Given the description of an element on the screen output the (x, y) to click on. 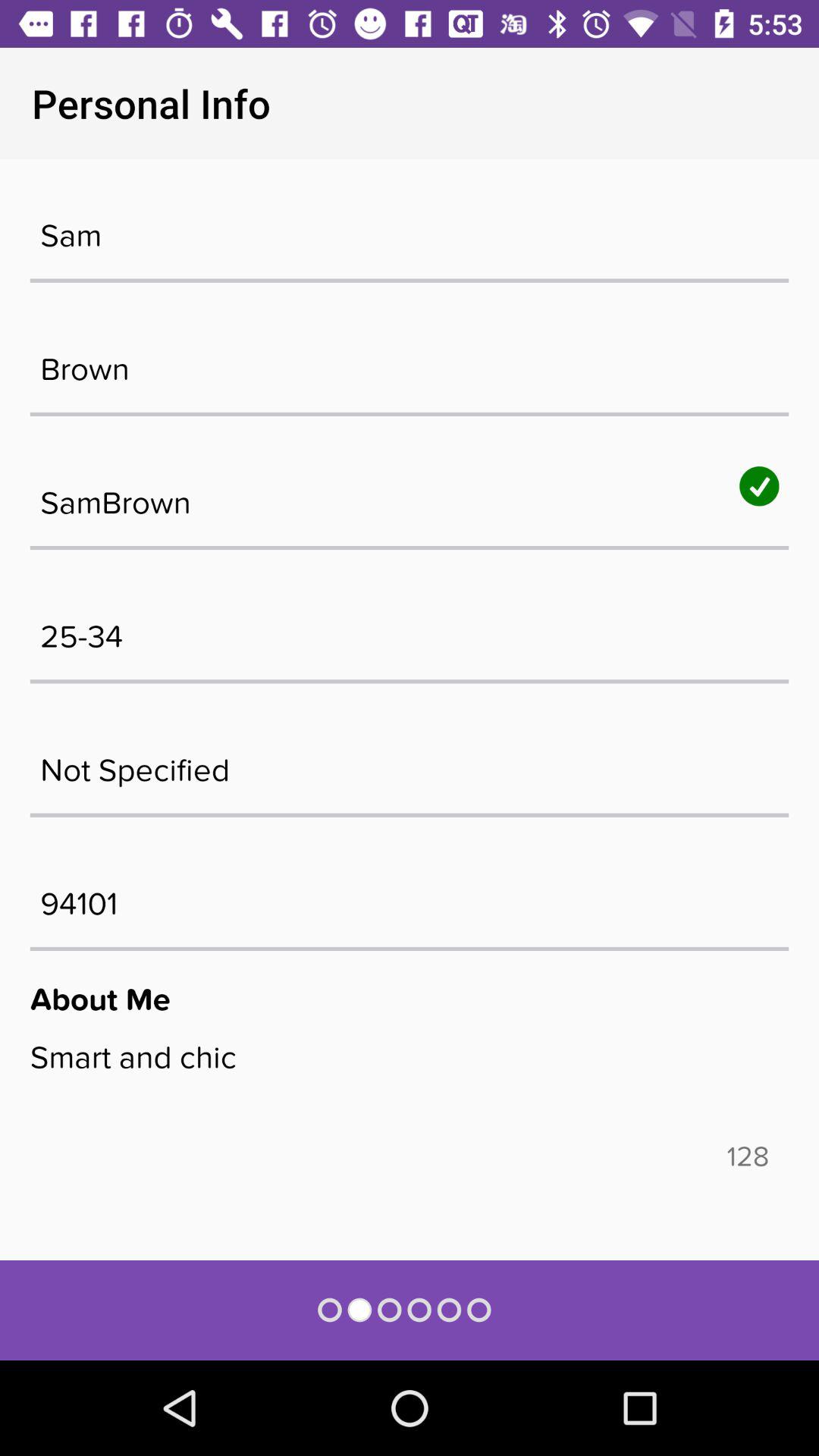
swipe until the smart and chic (409, 1089)
